Given the description of an element on the screen output the (x, y) to click on. 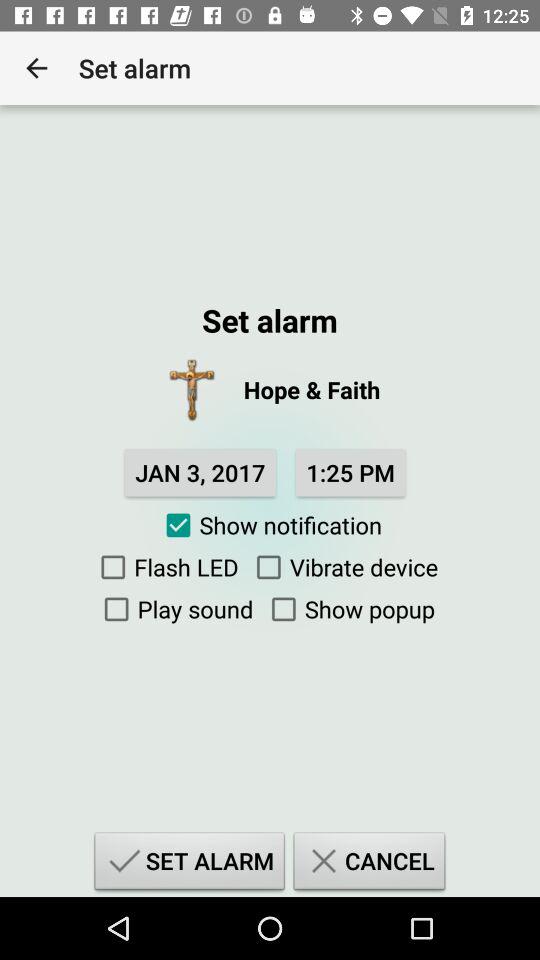
press item below flash led item (174, 609)
